Given the description of an element on the screen output the (x, y) to click on. 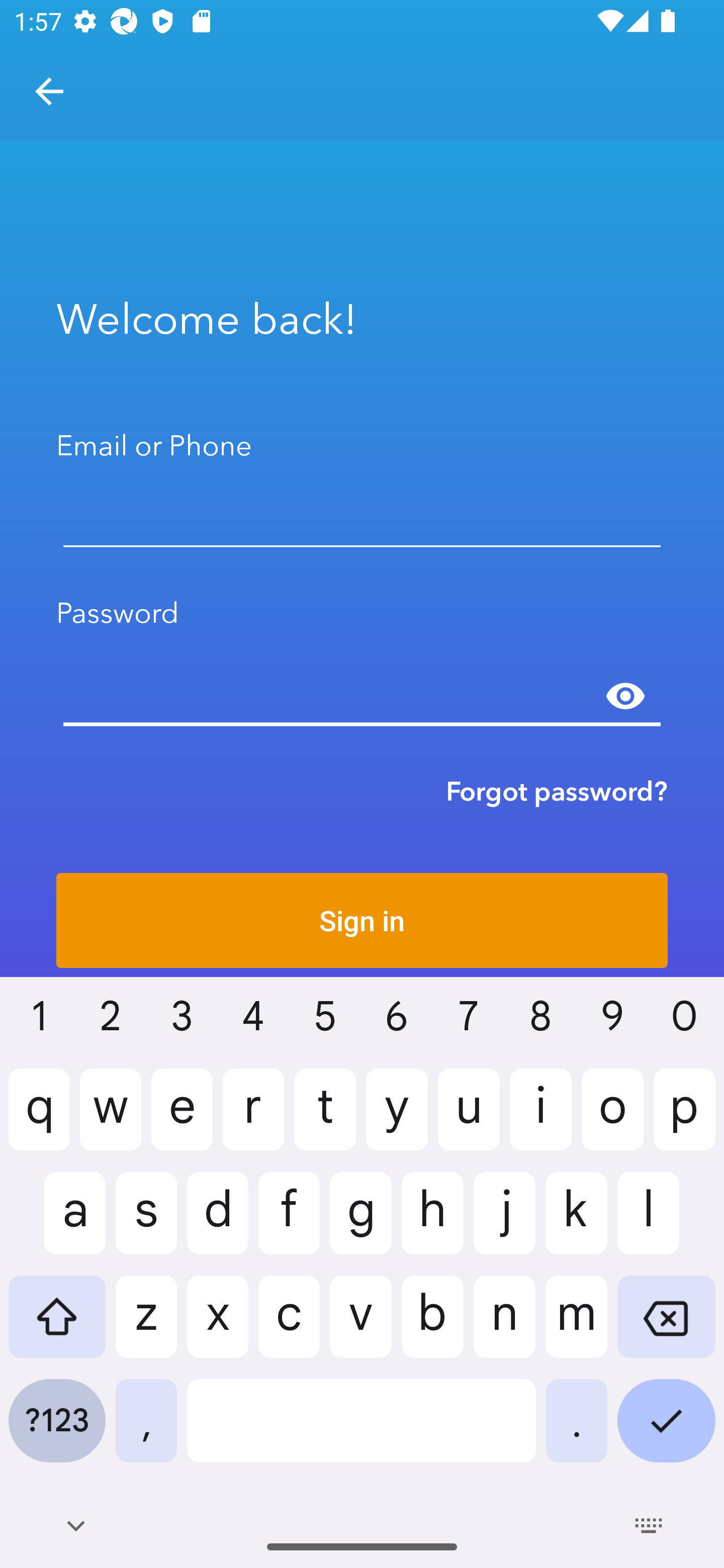
Navigate up (49, 91)
Show password (625, 695)
Forgot password? (556, 790)
Sign in (361, 920)
